Given the description of an element on the screen output the (x, y) to click on. 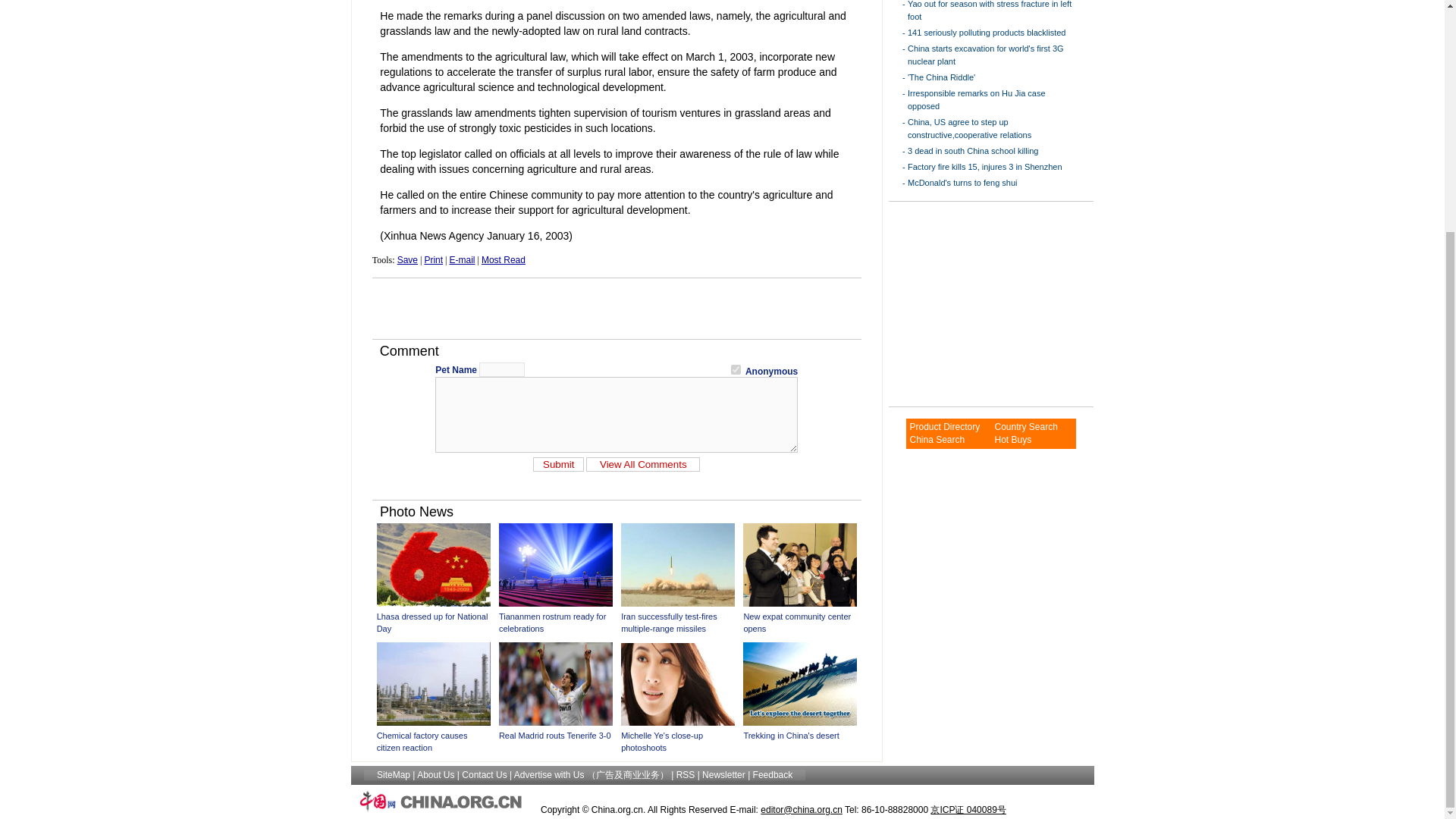
Submit (557, 464)
Alibaba Directory (943, 426)
1 (735, 369)
Advertisement (983, 303)
Most Read (503, 259)
View All Comments (643, 464)
Yao out for season with stress fracture in left foot (989, 10)
Hot Products (1012, 439)
Print (432, 259)
Advertisement (616, 308)
